Given the description of an element on the screen output the (x, y) to click on. 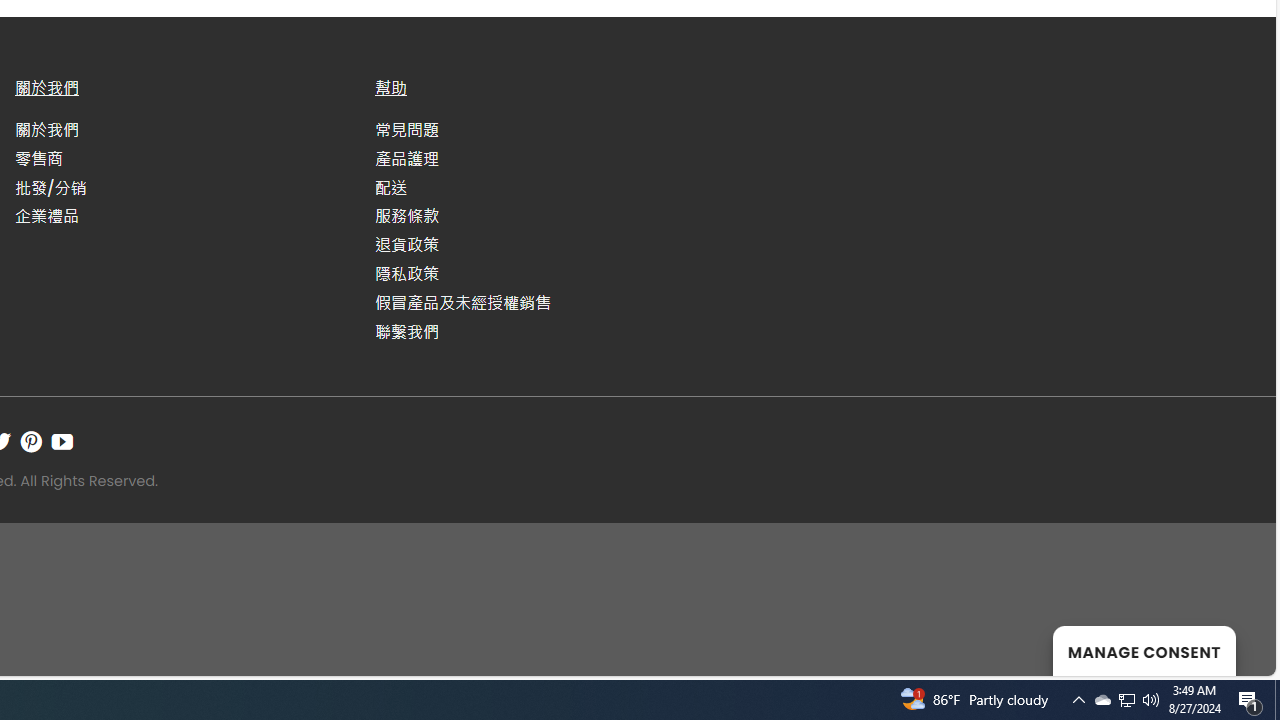
MANAGE CONSENT (1144, 650)
